Given the description of an element on the screen output the (x, y) to click on. 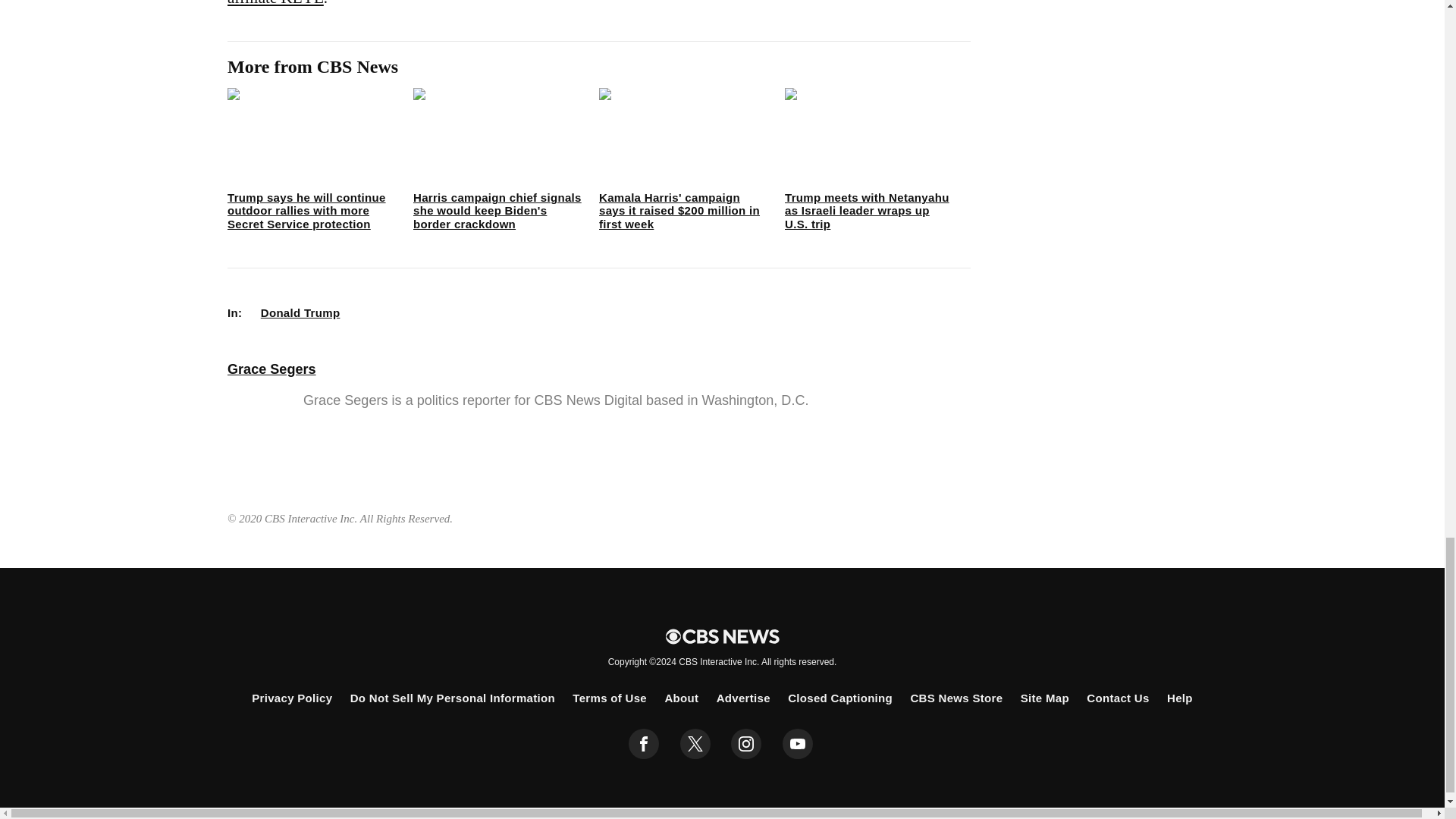
instagram (745, 743)
facebook (643, 743)
twitter (694, 743)
youtube (797, 743)
